Given the description of an element on the screen output the (x, y) to click on. 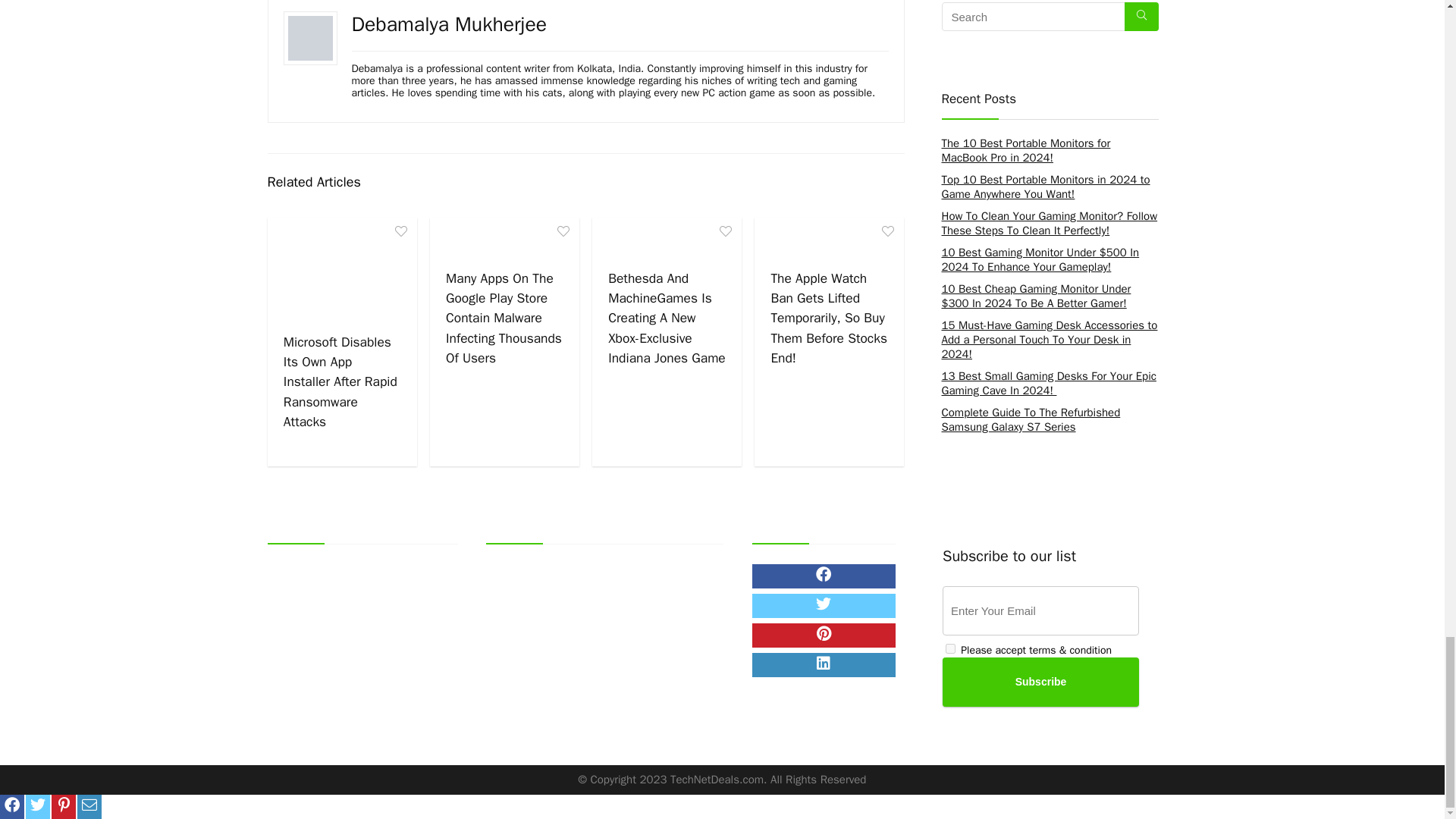
Subscribe (1040, 681)
true (949, 648)
Debamalya Mukherjee (449, 23)
